Given the description of an element on the screen output the (x, y) to click on. 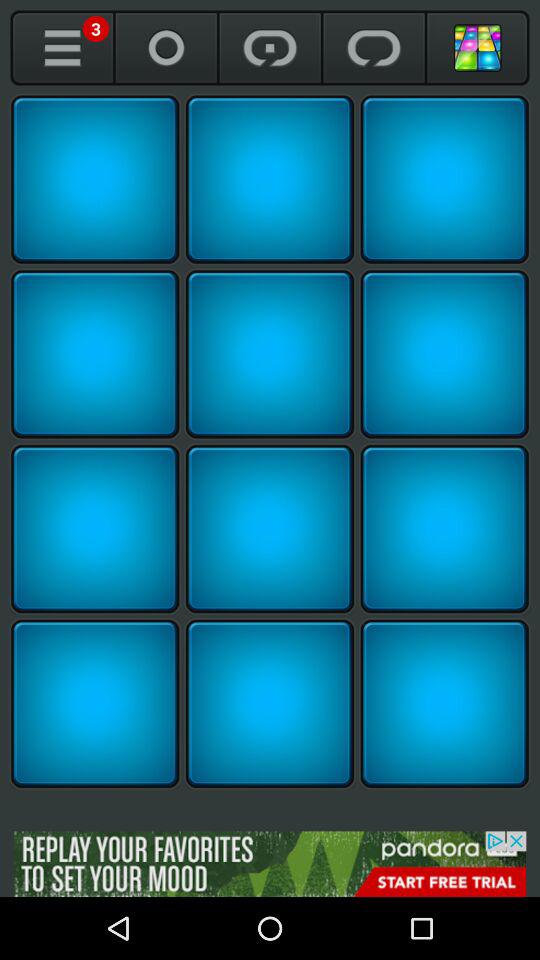
advertisement with link to product or service (270, 864)
